Given the description of an element on the screen output the (x, y) to click on. 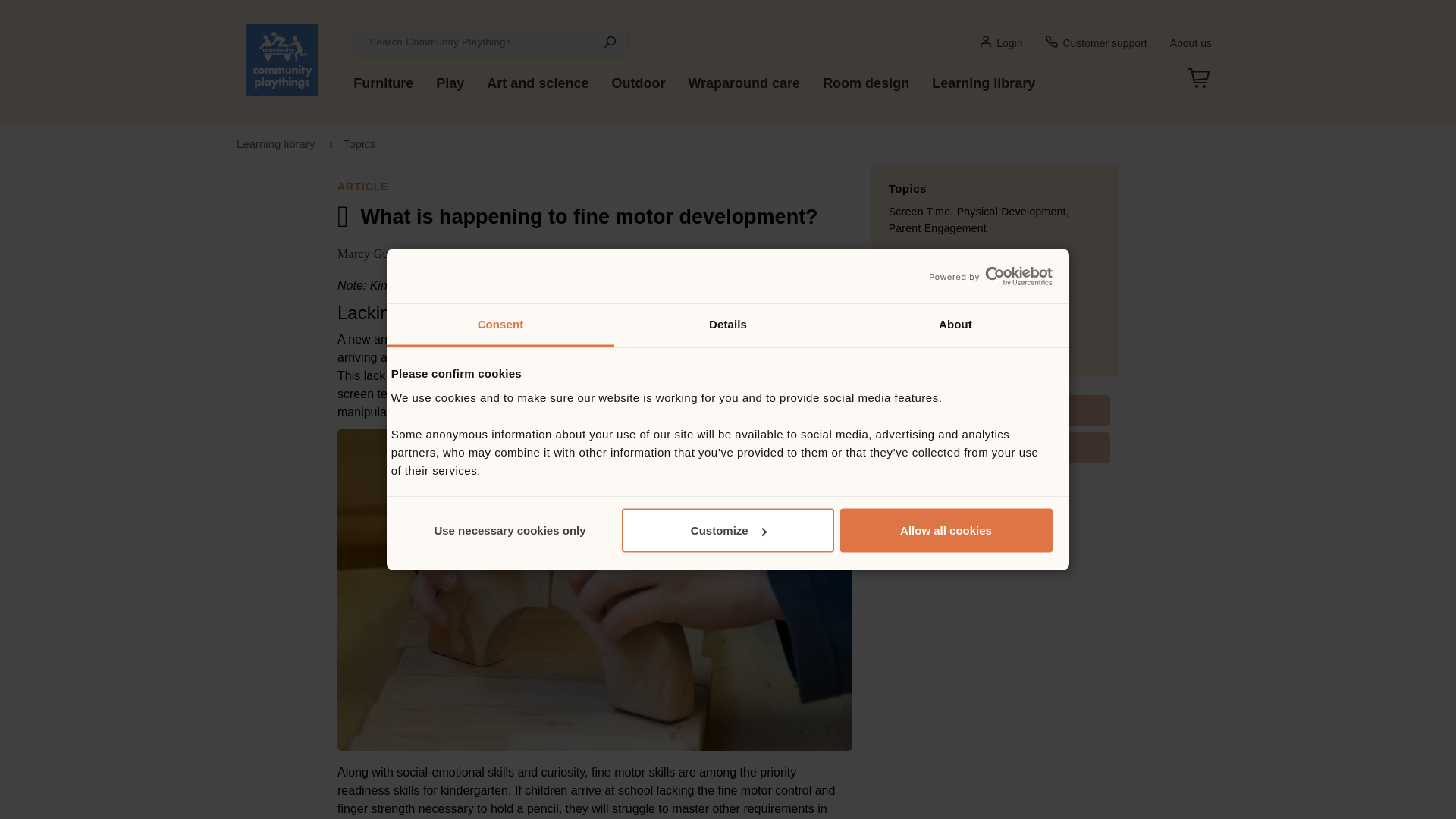
Consent (500, 324)
Details (727, 324)
About (954, 324)
